Given the description of an element on the screen output the (x, y) to click on. 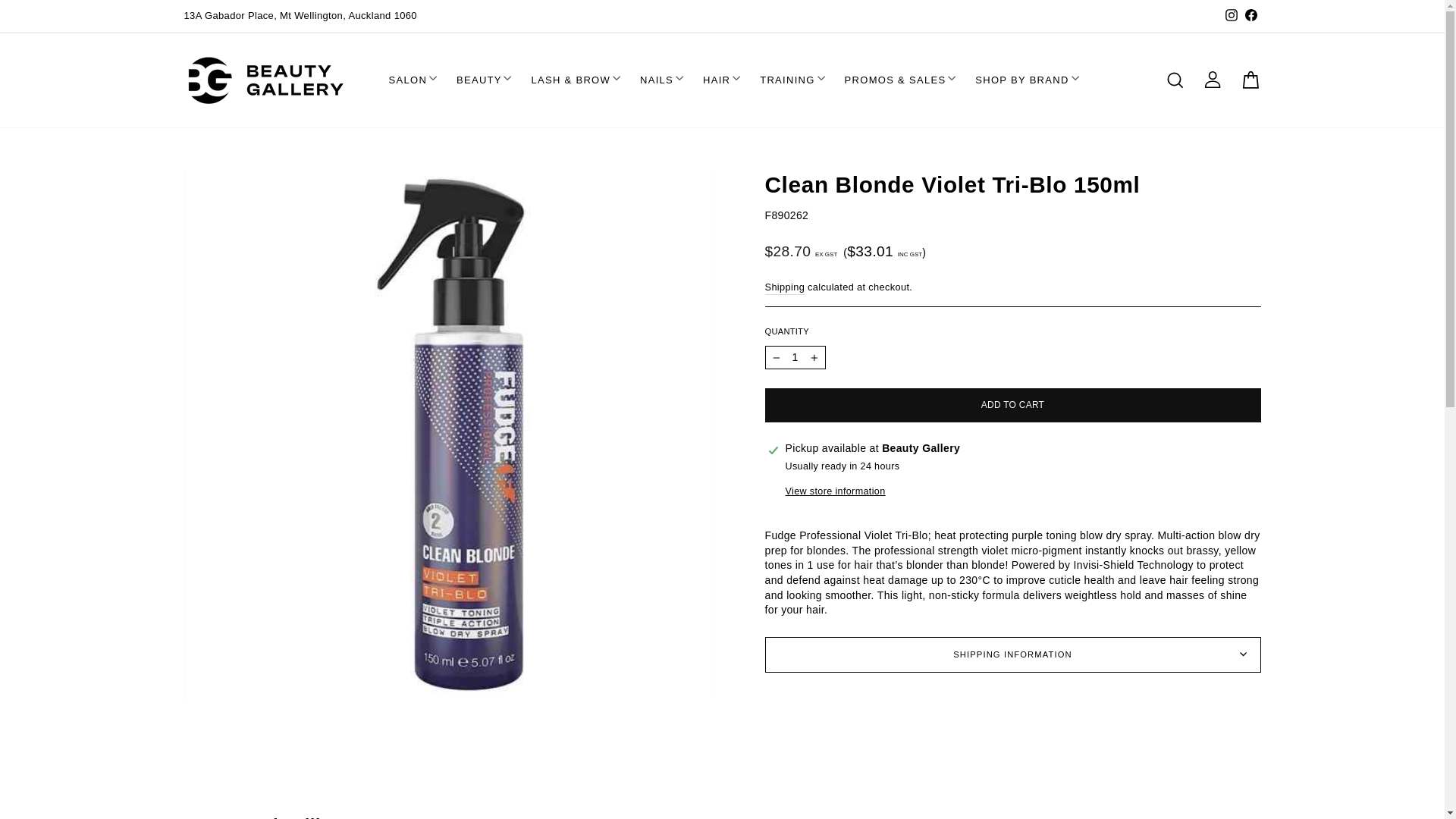
ICON-SEARCH (1175, 79)
Beauty Gallery on Instagram (1230, 15)
ACCOUNT (1212, 79)
instagram (1231, 15)
Beauty Gallery on Facebook (1250, 15)
1 (794, 357)
